Given the description of an element on the screen output the (x, y) to click on. 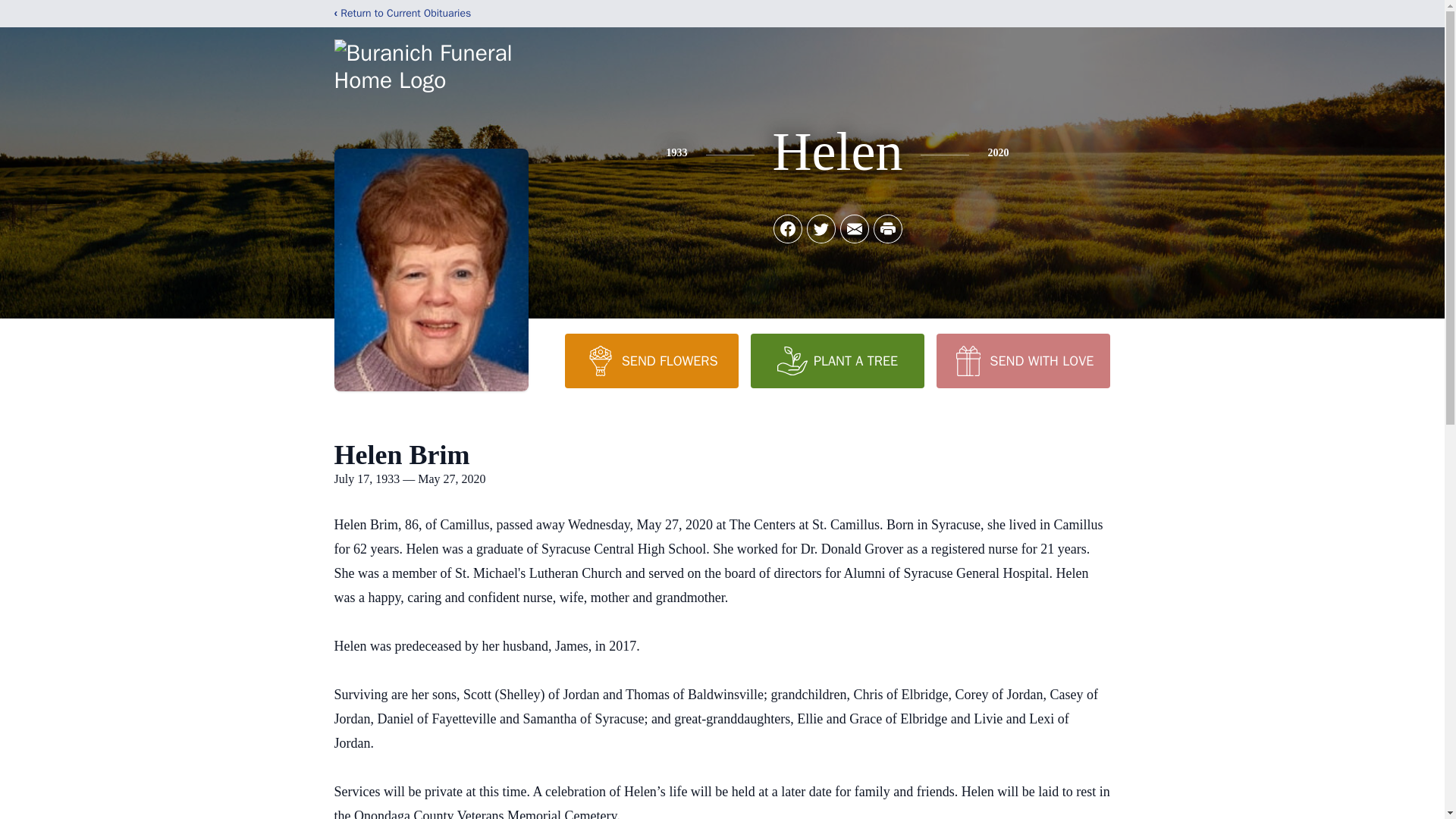
SEND FLOWERS (651, 360)
SEND WITH LOVE (1022, 360)
PLANT A TREE (837, 360)
